Given the description of an element on the screen output the (x, y) to click on. 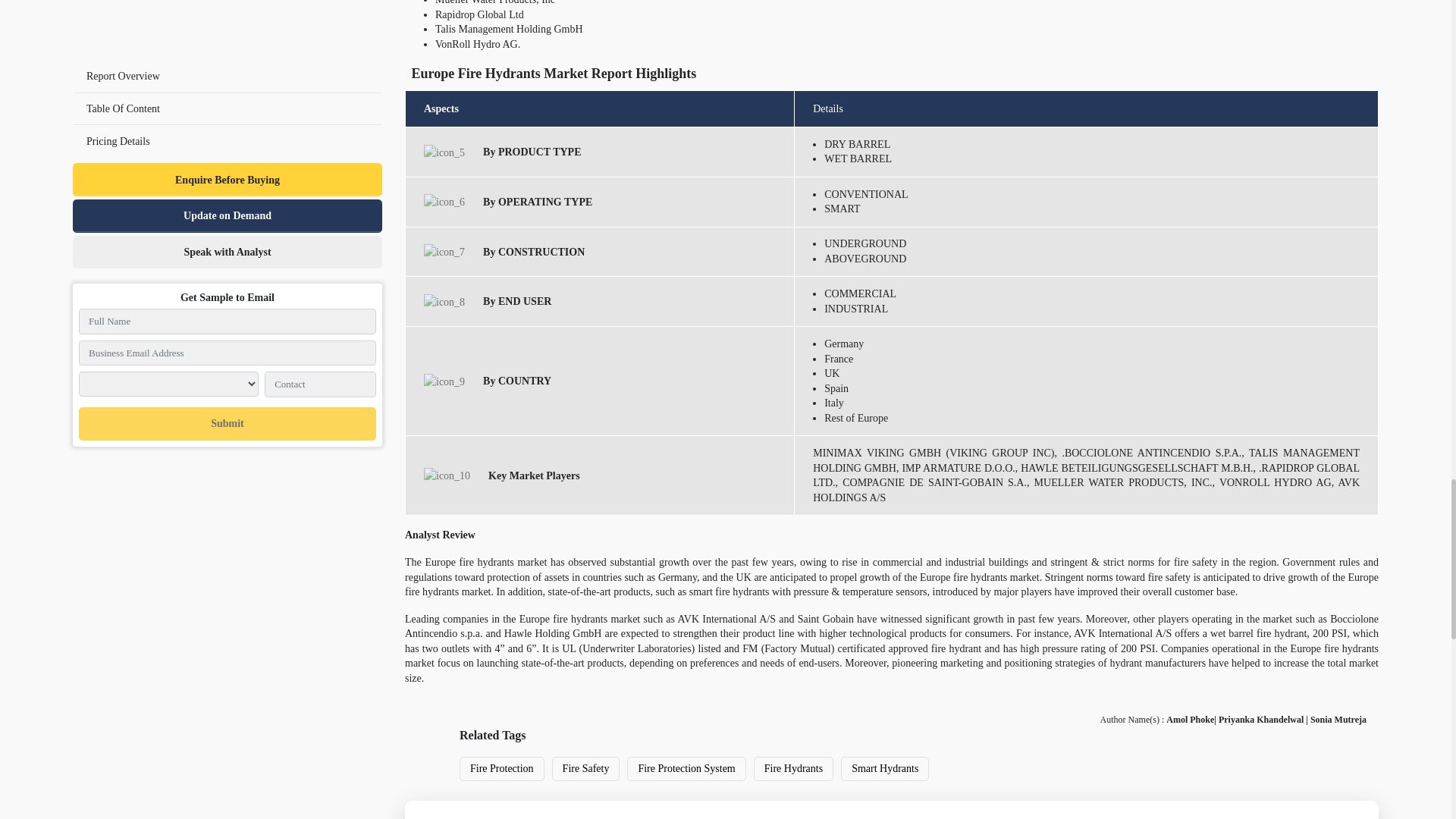
Europe Fire Hydrants Market By END USER (443, 302)
Key Market Players (446, 475)
Fire Safety (585, 768)
Fire Protection (502, 768)
Europe Fire Hydrants Market By PRODUCT TYPE (443, 152)
Europe Fire Hydrants Market By OPERATING TYPE (443, 201)
Europe Fire Hydrants Market By CONSTRUCTION (443, 252)
Fire Protection System (686, 768)
Europe Fire Hydrants Market By COUNTRY (443, 381)
